Given the description of an element on the screen output the (x, y) to click on. 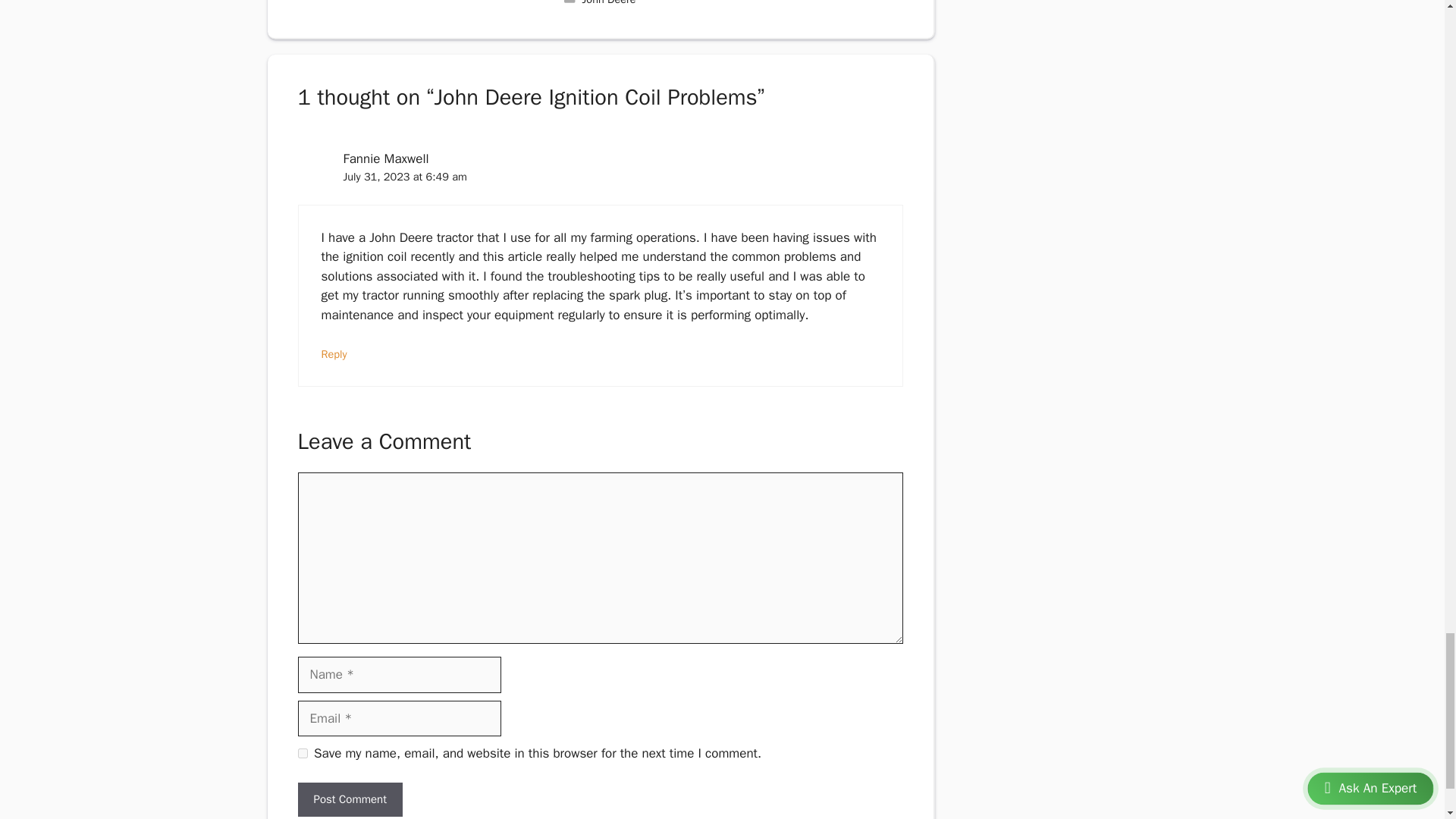
July 31, 2023 at 6:49 am (403, 176)
Reply (334, 354)
Post Comment (349, 799)
John Deere (609, 2)
Post Comment (349, 799)
yes (302, 753)
